Given the description of an element on the screen output the (x, y) to click on. 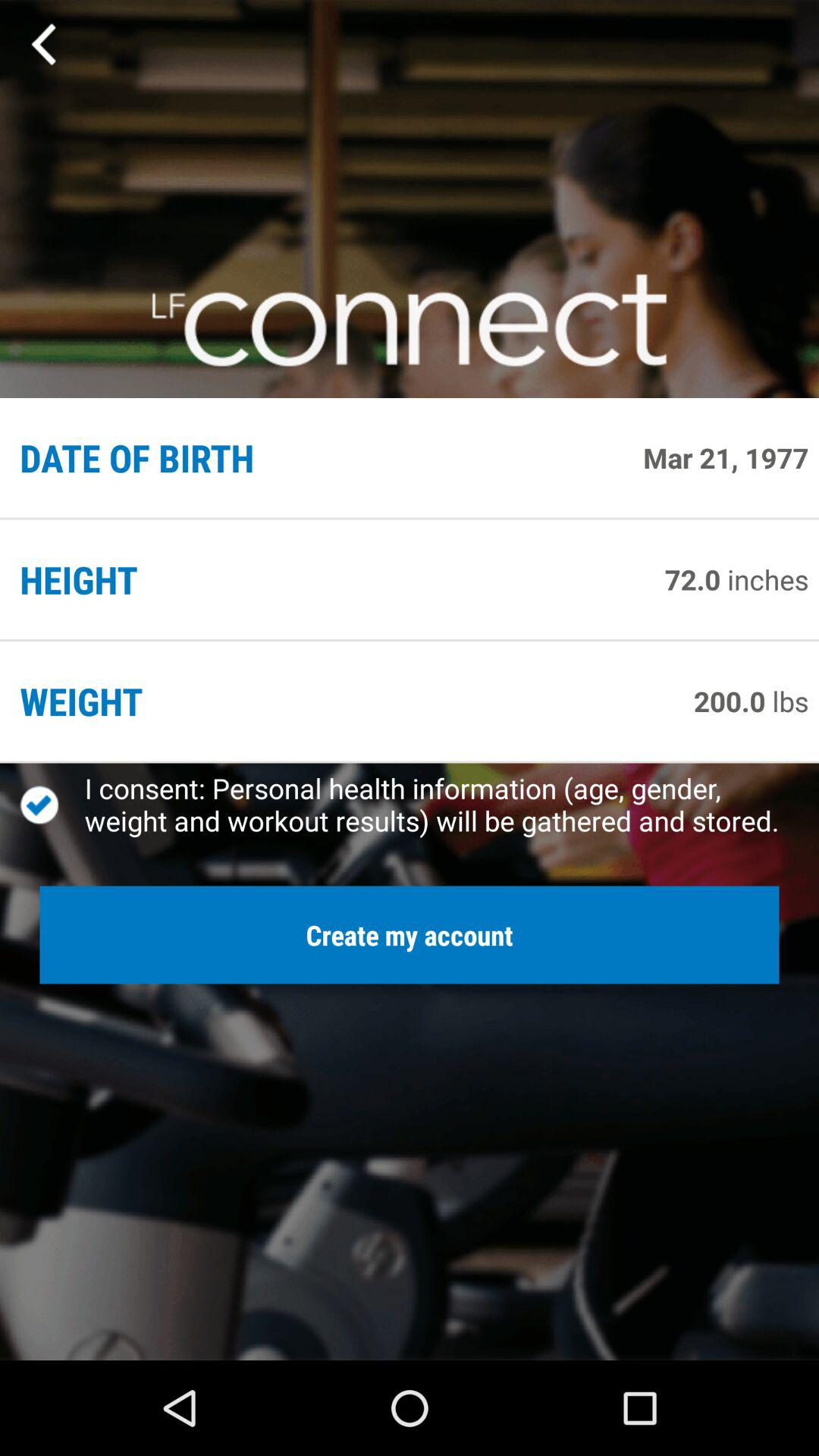
turn off item above create my account button (51, 804)
